Given the description of an element on the screen output the (x, y) to click on. 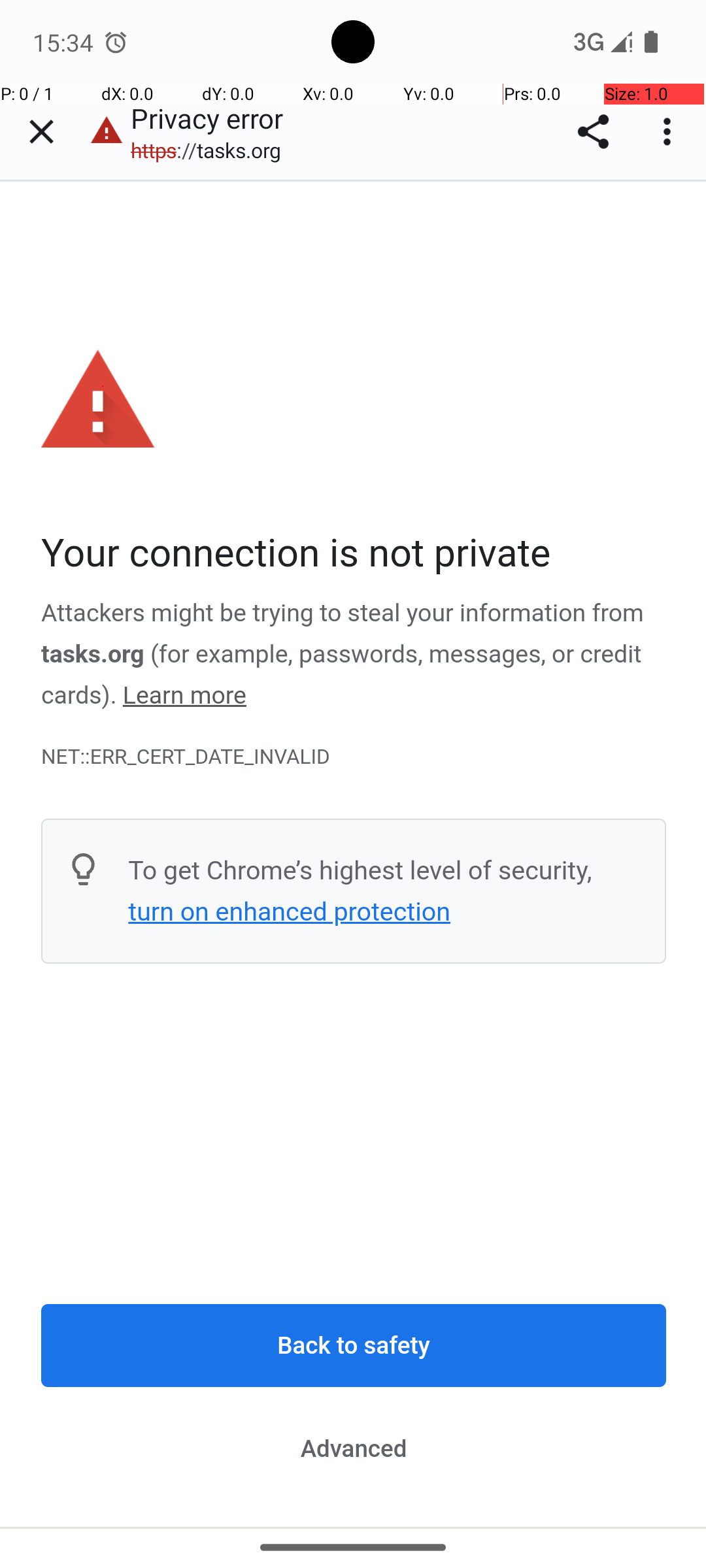
https://tasks.org Element type: android.widget.TextView (212, 149)
tasks.org Element type: android.widget.TextView (93, 653)
